Given the description of an element on the screen output the (x, y) to click on. 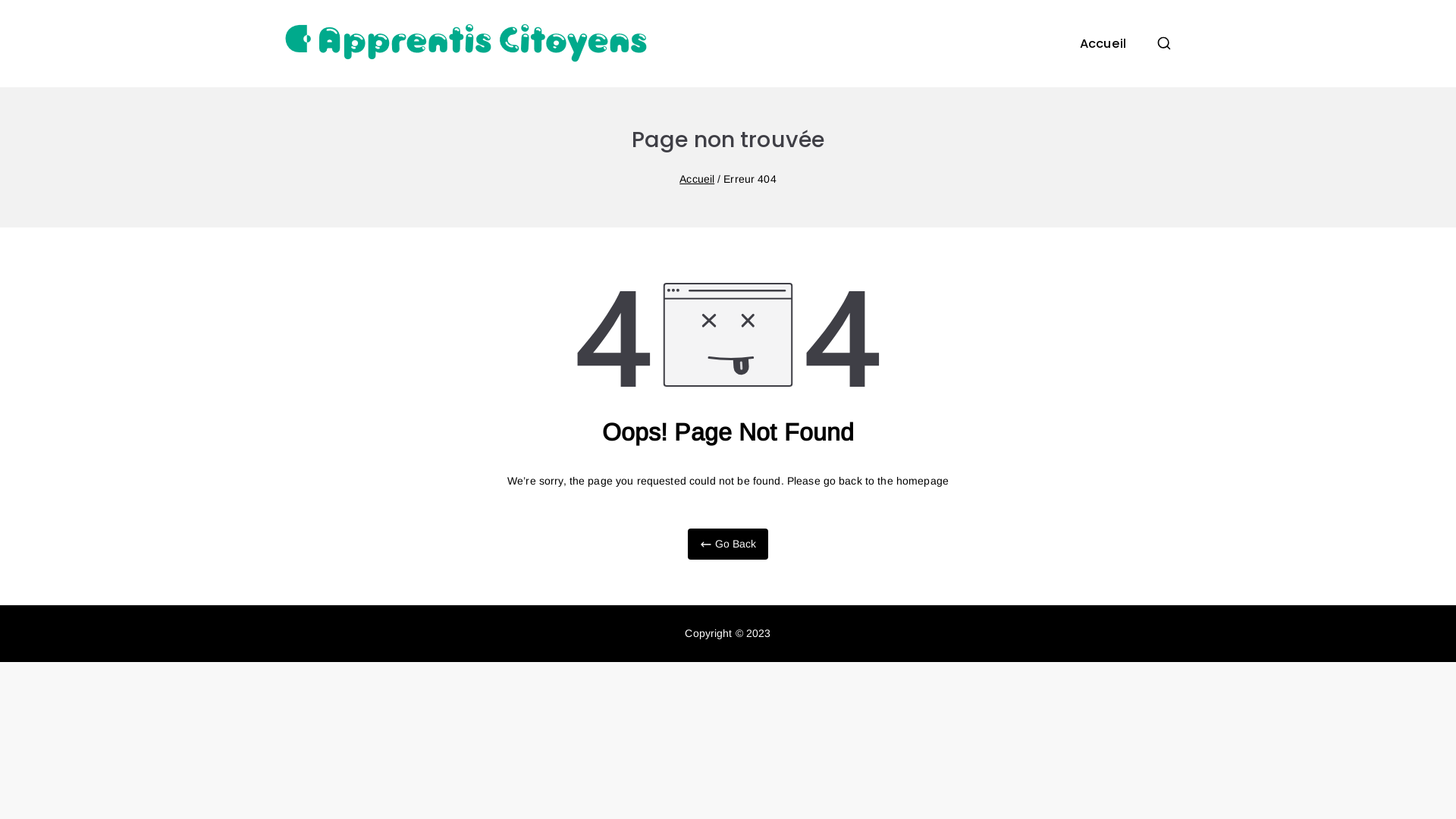
Accueil Element type: text (1102, 43)
Search Element type: text (24, 12)
Apprentis citoyens Element type: text (802, 63)
Accueil Element type: text (696, 178)
Go Back Element type: text (727, 543)
